Given the description of an element on the screen output the (x, y) to click on. 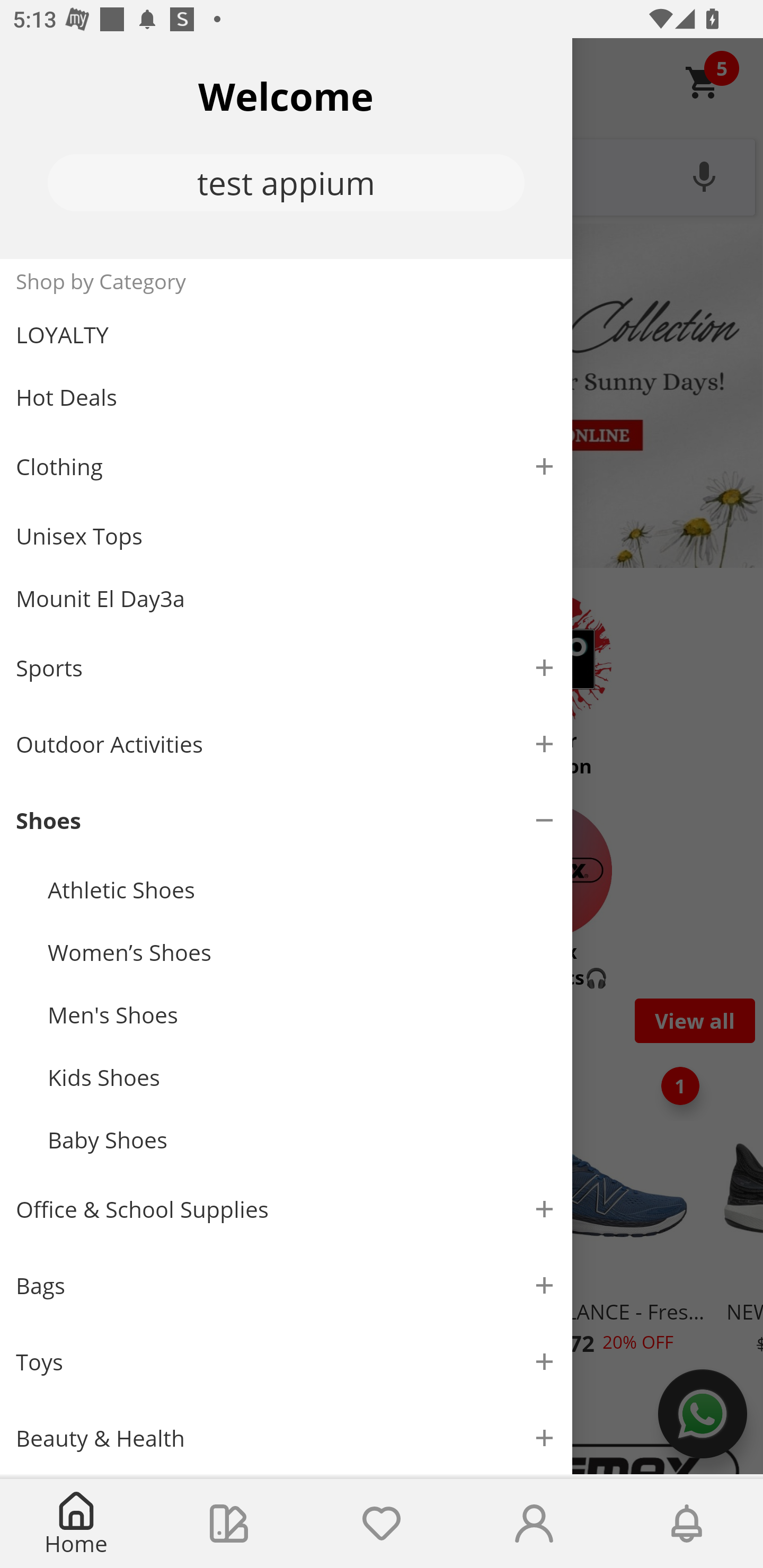
Welcome test appium (286, 147)
What are you looking for? (381, 175)
LOYALTY (286, 334)
Hot Deals (286, 396)
Clothing (286, 466)
Unisex Tops (286, 535)
Mounit El Day3a (286, 598)
Sports (286, 667)
Outdoor Activities (286, 743)
Athletic Shoes (302, 890)
Women’s Shoes (302, 952)
Men's Shoes (302, 1014)
Kids Shoes (302, 1076)
Baby Shoes (302, 1139)
Office & School Supplies (286, 1209)
Bags (286, 1285)
Toys (286, 1361)
Beauty & Health (286, 1436)
Collections (228, 1523)
Wishlist (381, 1523)
Account (533, 1523)
Notifications (686, 1523)
